Given the description of an element on the screen output the (x, y) to click on. 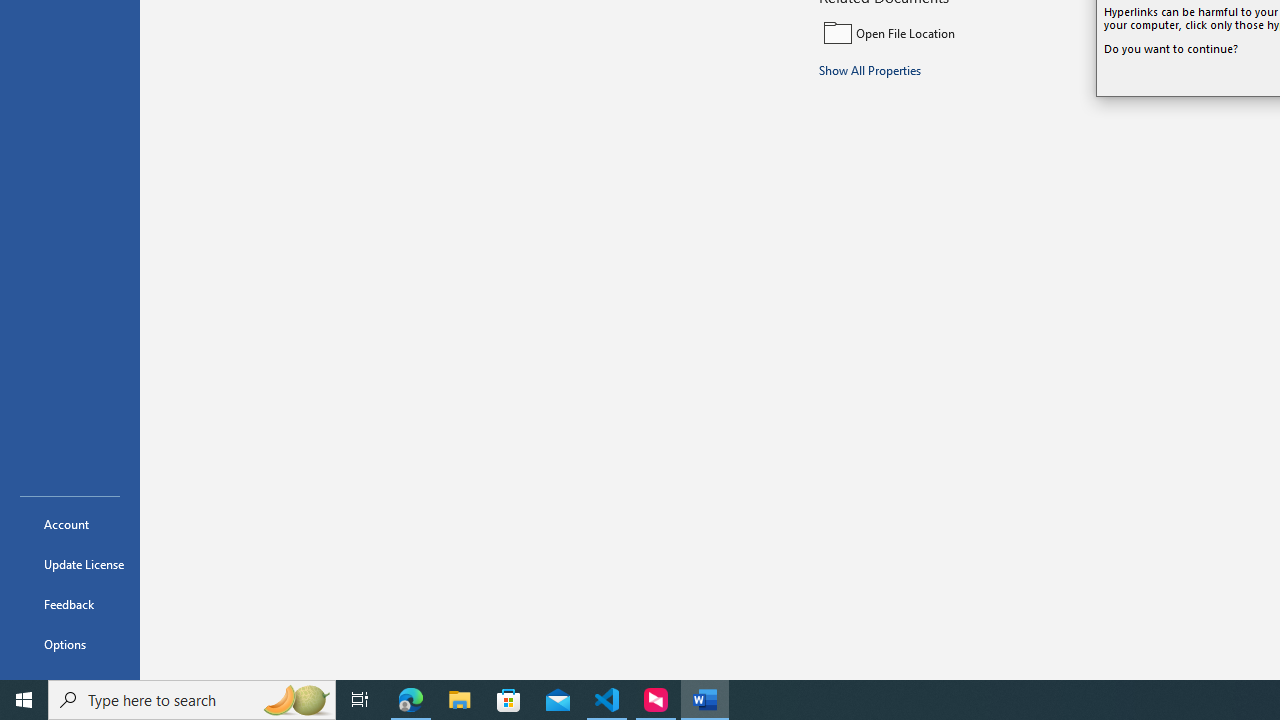
Word - 1 running window (704, 699)
Start (24, 699)
Account (69, 523)
Microsoft Edge - 1 running window (411, 699)
Task View (359, 699)
Options (69, 643)
Search highlights icon opens search home window (295, 699)
Feedback (69, 603)
Open File Location (953, 32)
Type here to search (191, 699)
Update License (69, 563)
Visual Studio Code - 1 running window (607, 699)
File Explorer (460, 699)
